Given the description of an element on the screen output the (x, y) to click on. 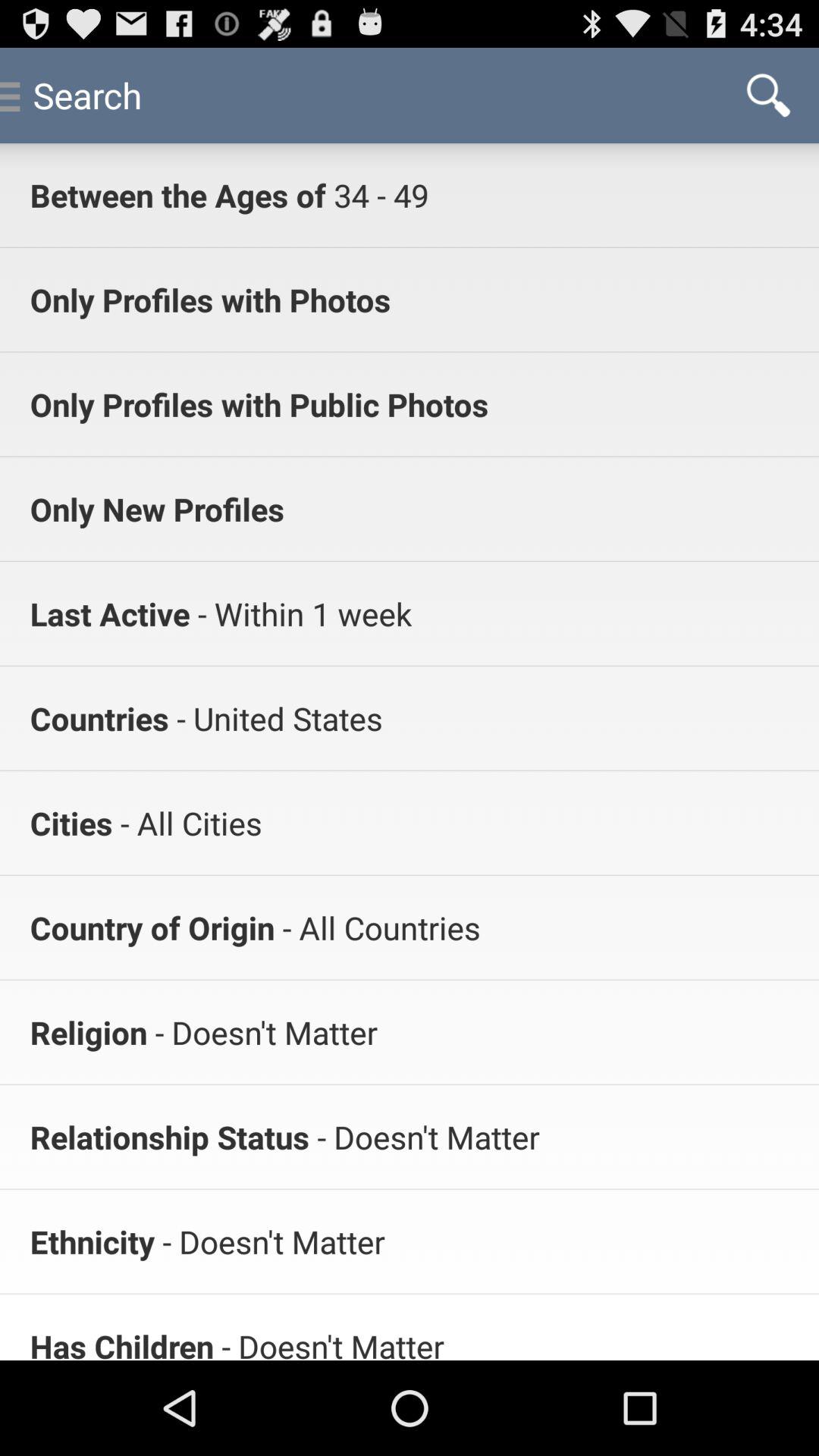
click the icon at the top (376, 194)
